Given the description of an element on the screen output the (x, y) to click on. 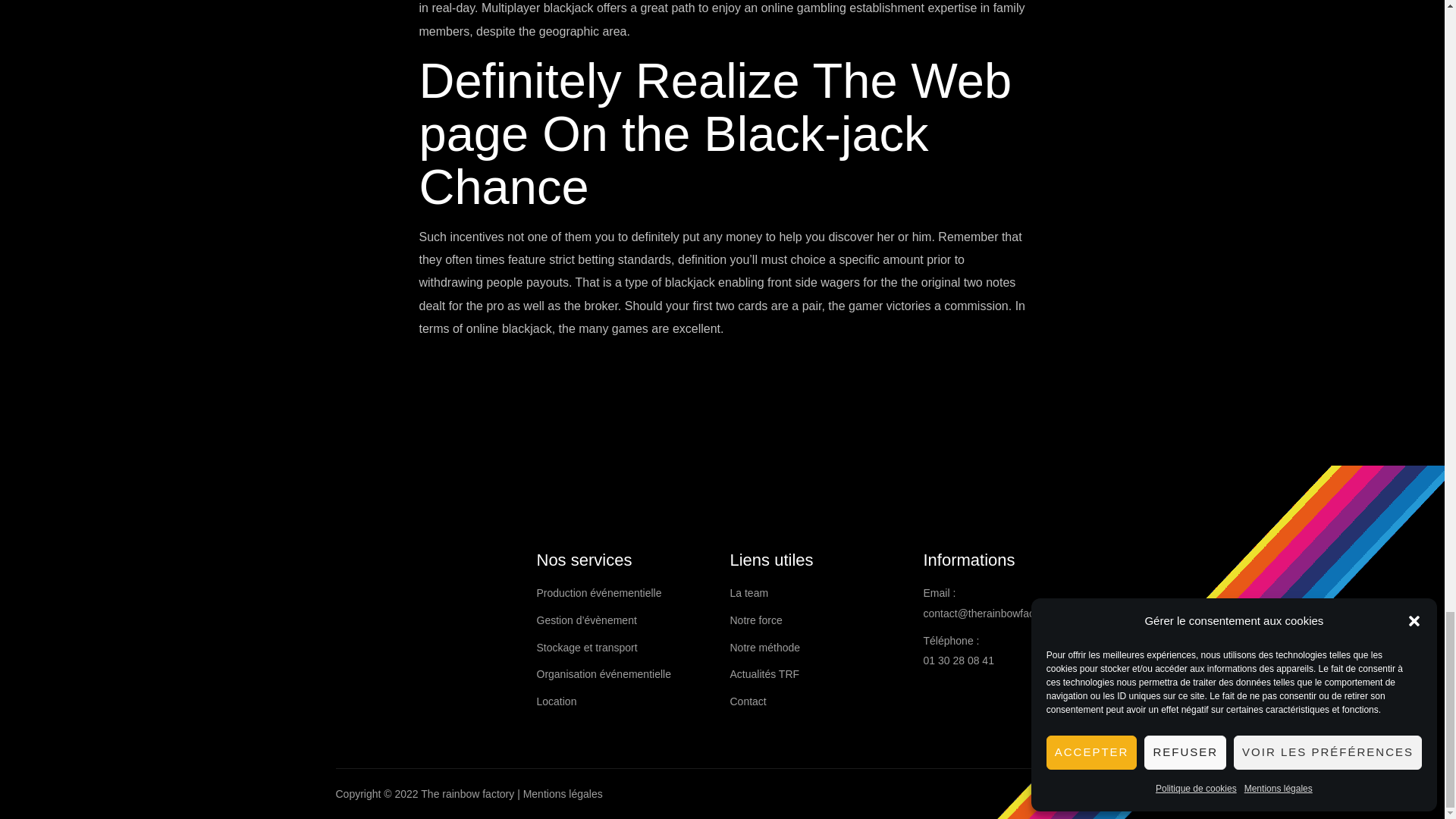
Nos services (625, 559)
Liens utiles (818, 559)
Informations (1012, 559)
